Given the description of an element on the screen output the (x, y) to click on. 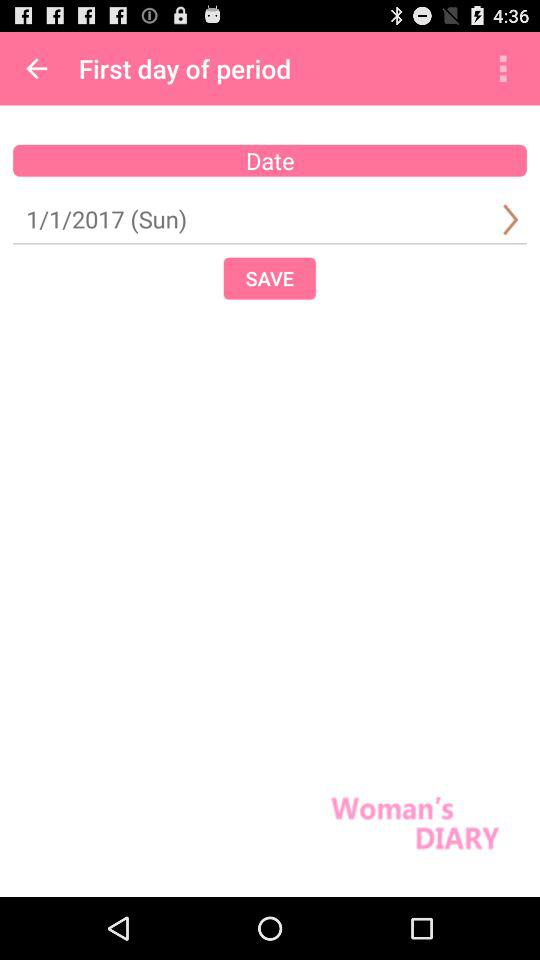
swipe until the save icon (269, 278)
